Given the description of an element on the screen output the (x, y) to click on. 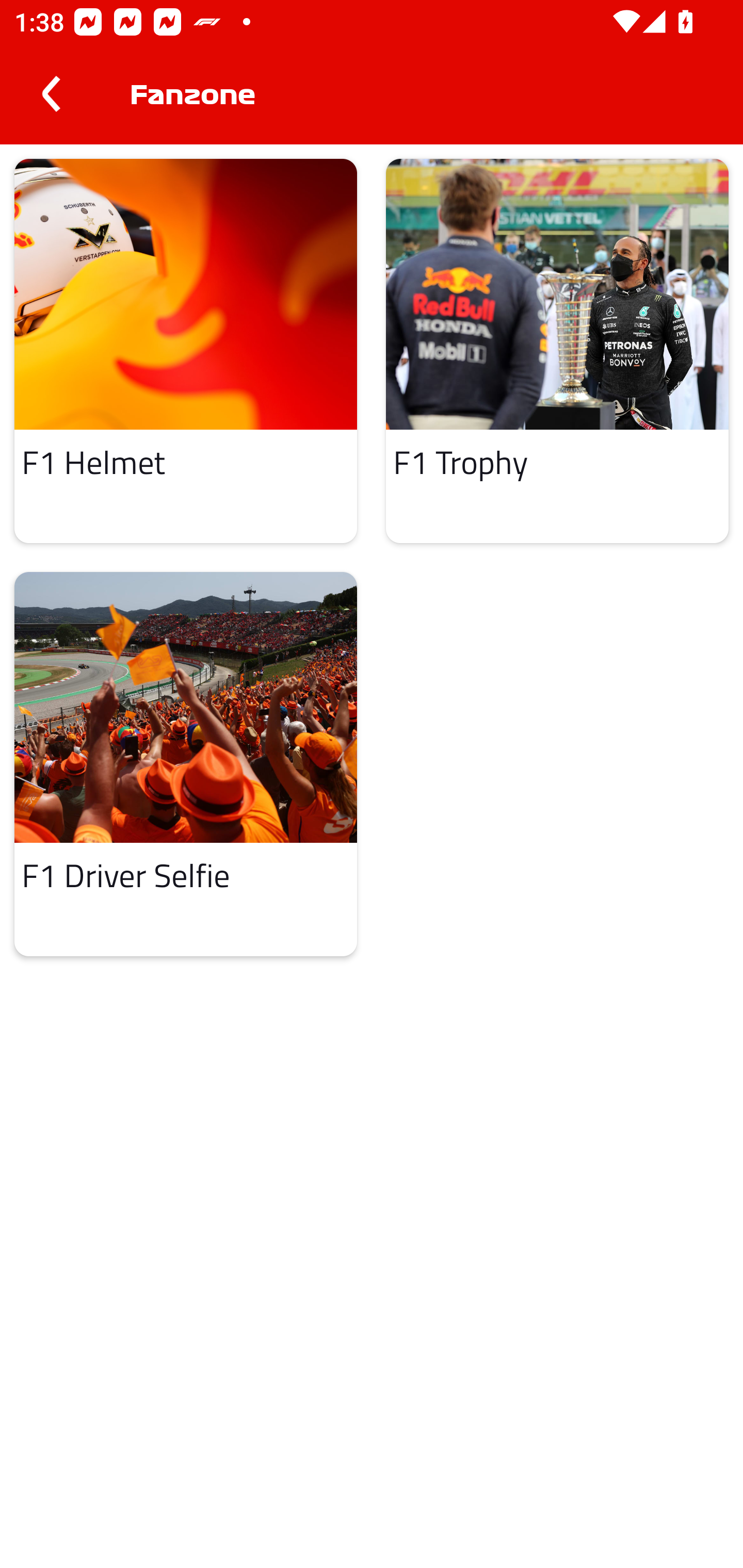
Navigate up (50, 93)
F1 Helmet (185, 350)
F1 Trophy (556, 350)
F1 Driver Selfie (185, 764)
